Given the description of an element on the screen output the (x, y) to click on. 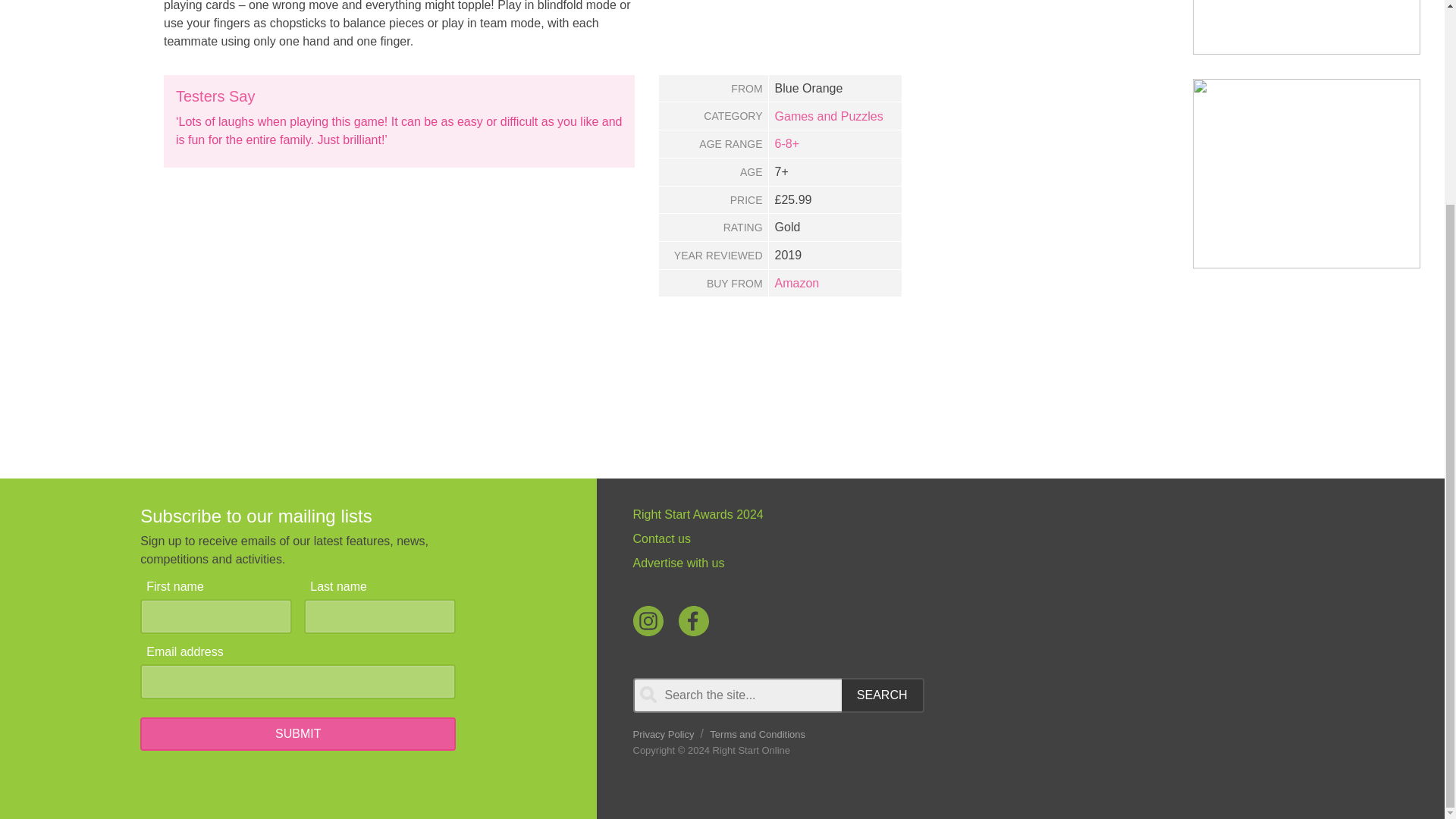
Privacy Policy (662, 734)
Advertise with us (893, 563)
Contact us (893, 539)
SUBMIT (297, 734)
Right Start Awards 2024 (893, 514)
Follow us on Instagram (646, 621)
Find us on Facebook (693, 621)
Amazon (796, 282)
Terms and Conditions (757, 734)
Games and Puzzles (828, 115)
